Given the description of an element on the screen output the (x, y) to click on. 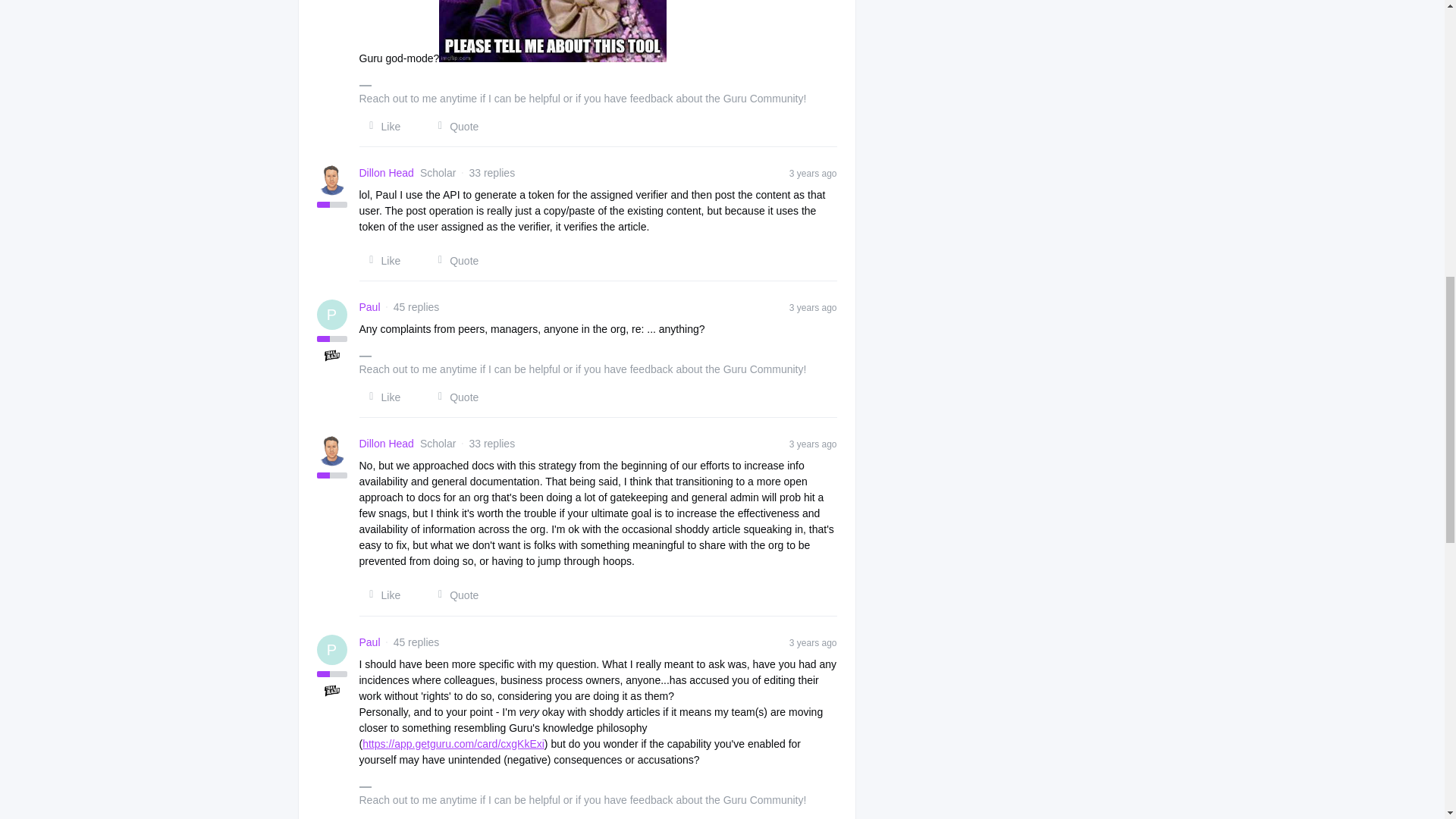
Like (380, 260)
Dillon Head (386, 443)
3 years ago (813, 306)
Quote (453, 595)
Paul (369, 307)
3 years ago (813, 173)
Quote (453, 260)
Dillon Head (386, 443)
Trailblazer (331, 690)
3 years ago (813, 443)
Like (380, 396)
Dillon Head (386, 172)
Quote (453, 396)
Paul (369, 307)
Like (380, 595)
